Given the description of an element on the screen output the (x, y) to click on. 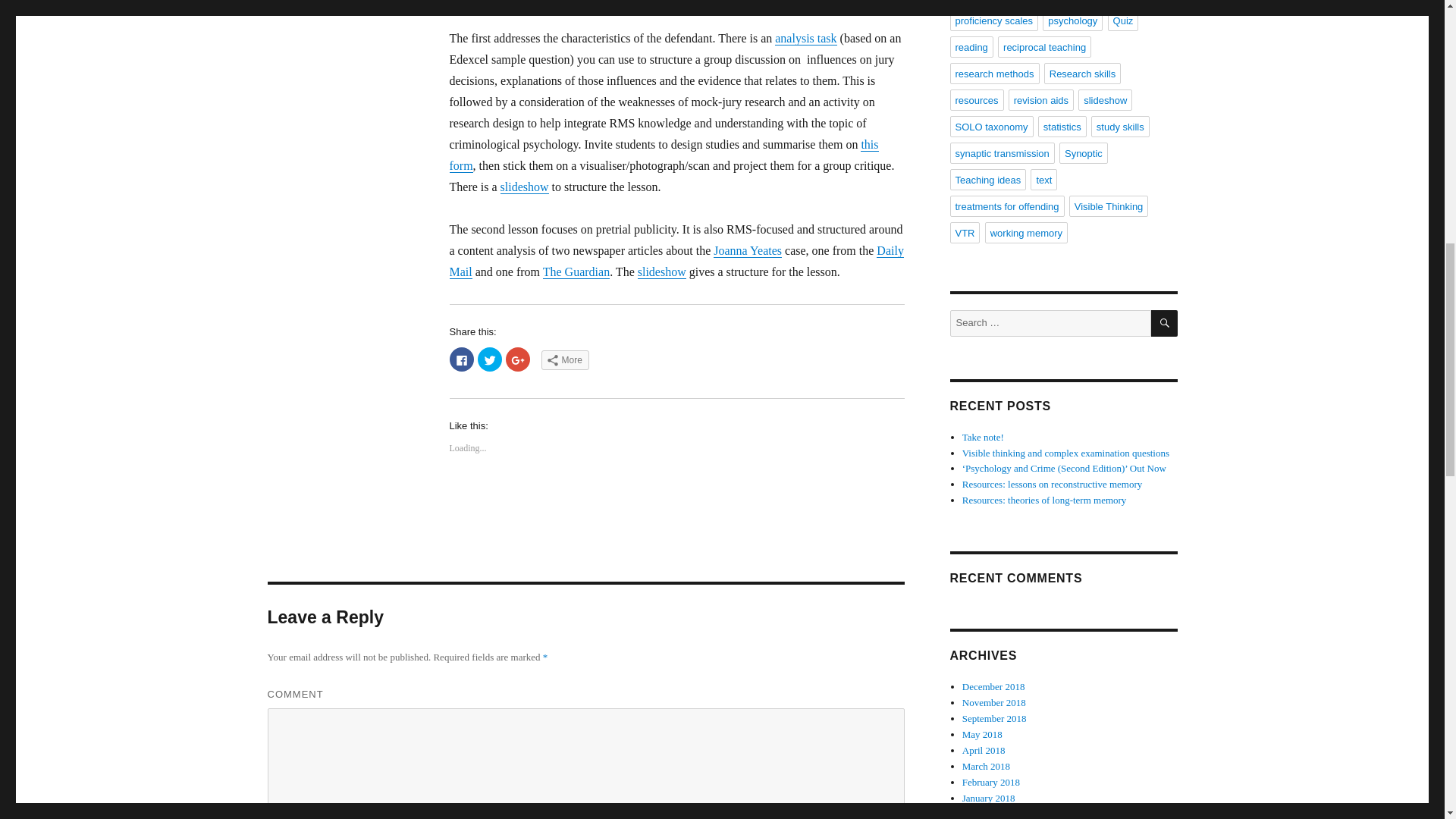
slideshow (524, 186)
Daily Mail (675, 261)
The Guardian (576, 271)
this form (662, 154)
More (565, 360)
analysis task (804, 38)
slideshow (661, 271)
Click to share on Facebook (460, 359)
Joanna Yeates (747, 250)
Click to share on Twitter (489, 359)
